Given the description of an element on the screen output the (x, y) to click on. 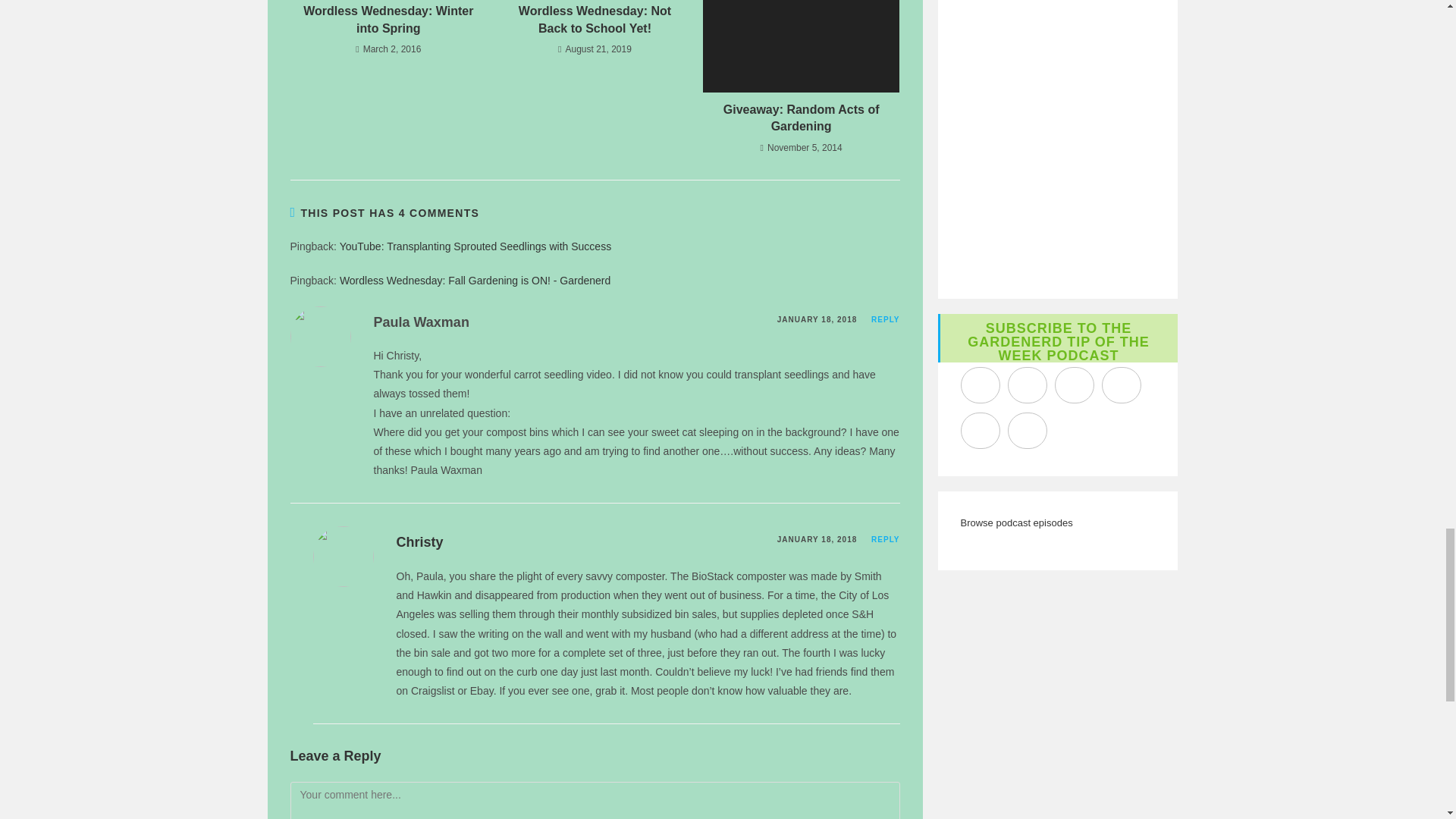
Subscribe by Email (978, 430)
Subscribe on Android (1120, 384)
Subscribe on Amazon Music (1073, 384)
Subscribe via RSS (1026, 430)
Subscribe on Spotify (1026, 384)
Subscribe on Apple Podcasts (978, 384)
